Given the description of an element on the screen output the (x, y) to click on. 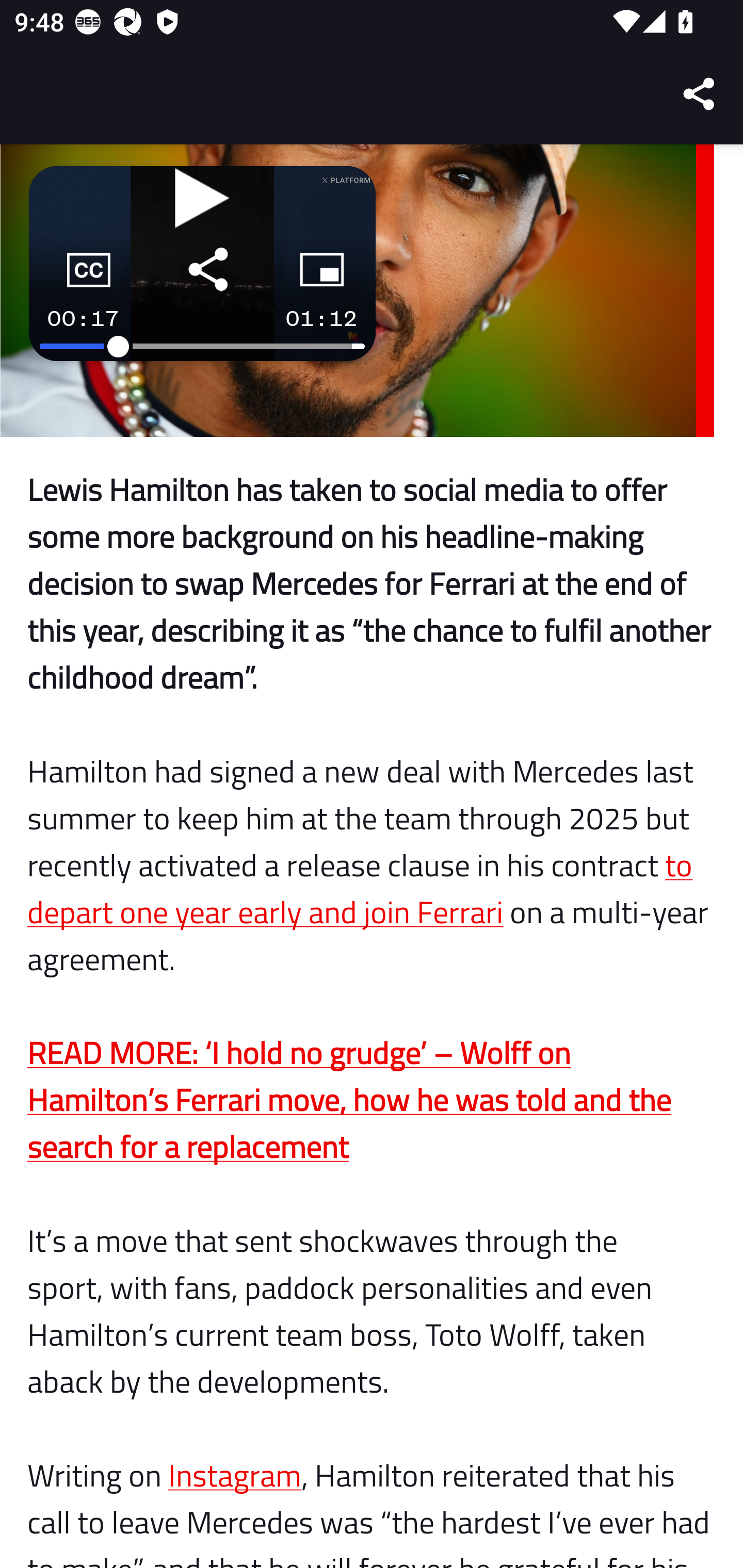
Share (699, 93)
